Given the description of an element on the screen output the (x, y) to click on. 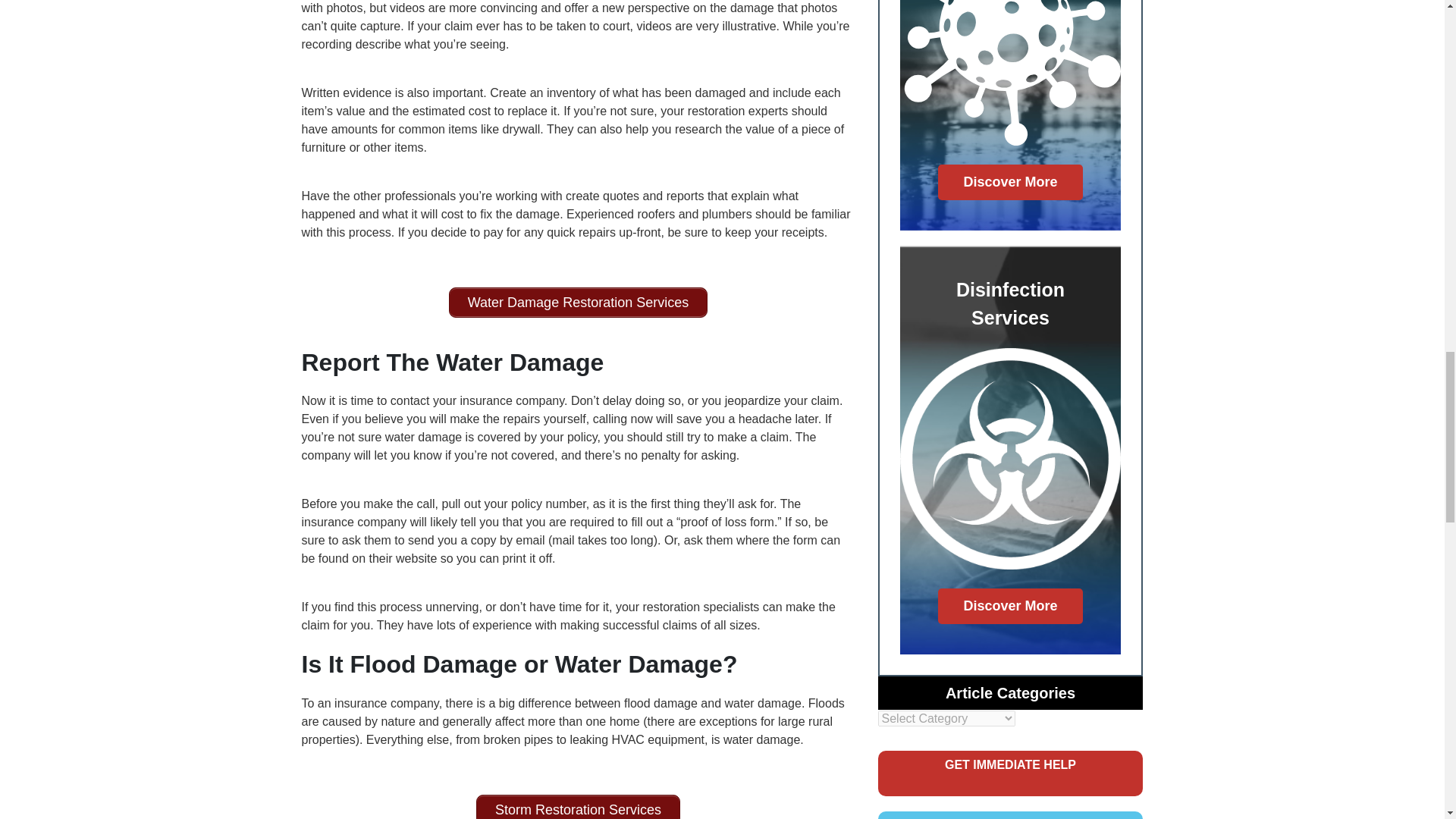
Discover More (1010, 181)
Storm Restoration Services (577, 806)
Discover More (1010, 606)
GET IMMEDIATE HELP (1009, 773)
Water Damage Restoration Services (577, 302)
